Given the description of an element on the screen output the (x, y) to click on. 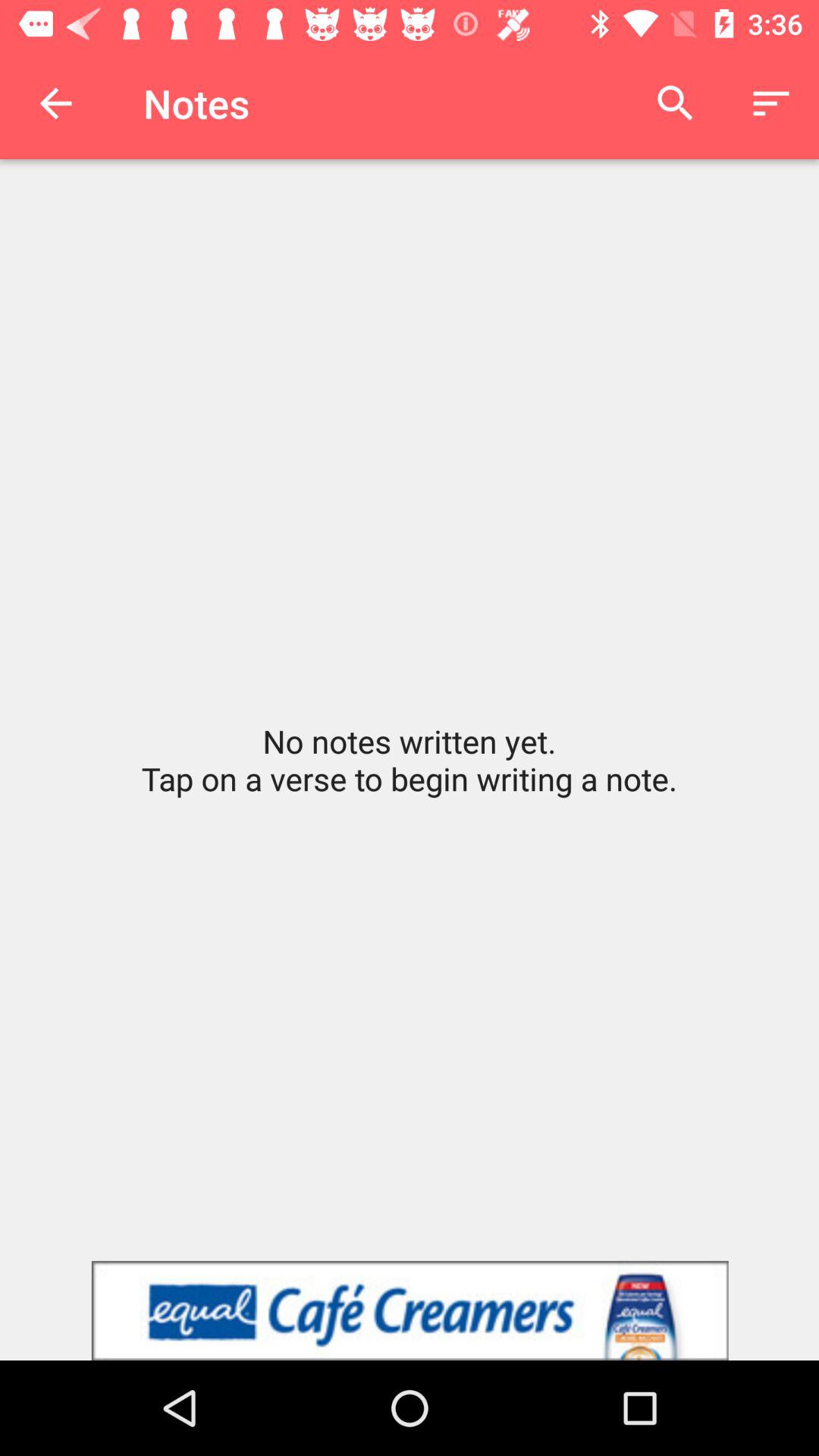
advertisement panel (409, 1310)
